Given the description of an element on the screen output the (x, y) to click on. 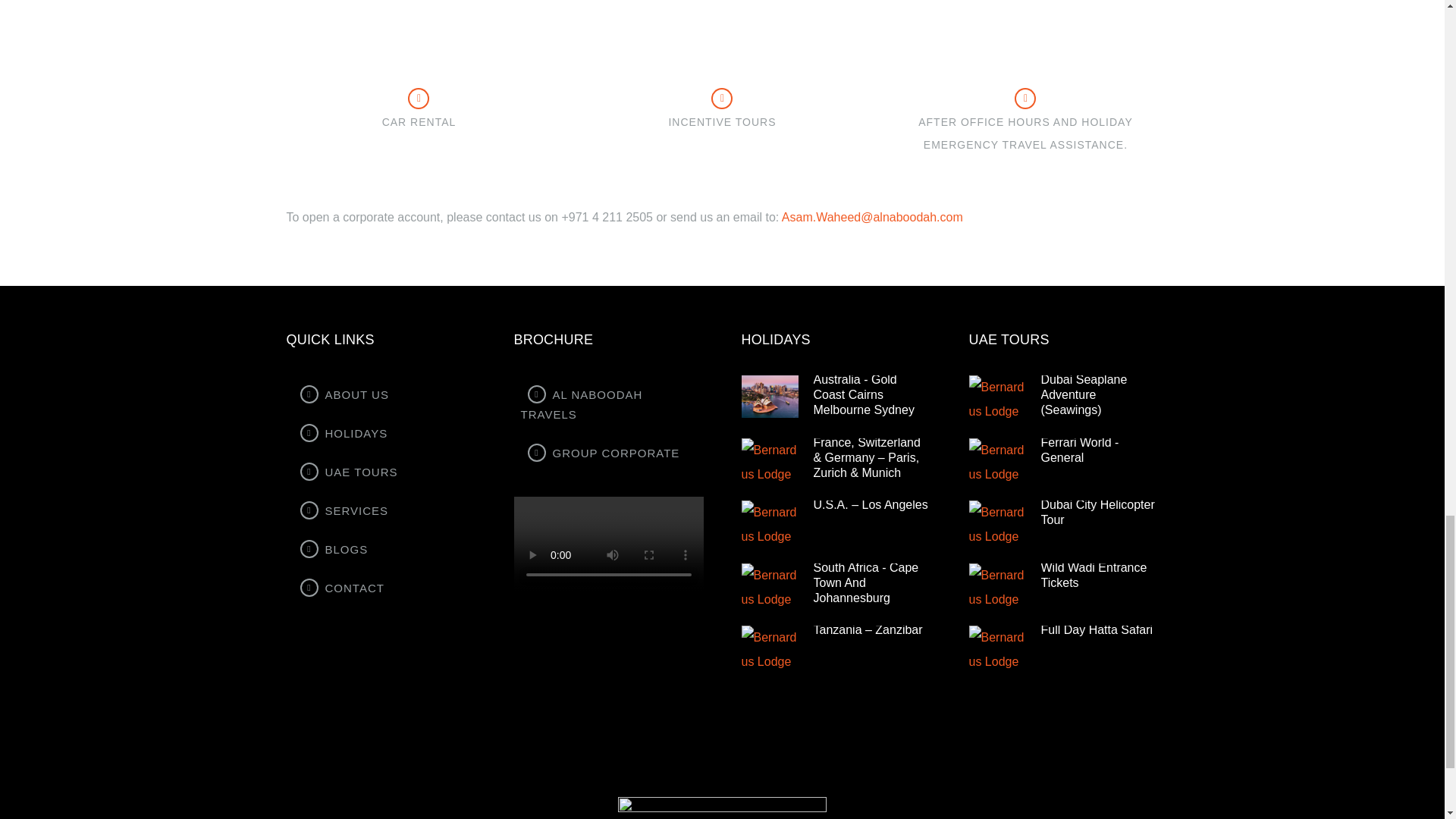
ACCOUNT MANAGEMENT (418, 14)
AIRPORT TRANSFERS (1024, 14)
CAR RENTAL (418, 120)
TRAVELLER TRACKING (721, 14)
